Given the description of an element on the screen output the (x, y) to click on. 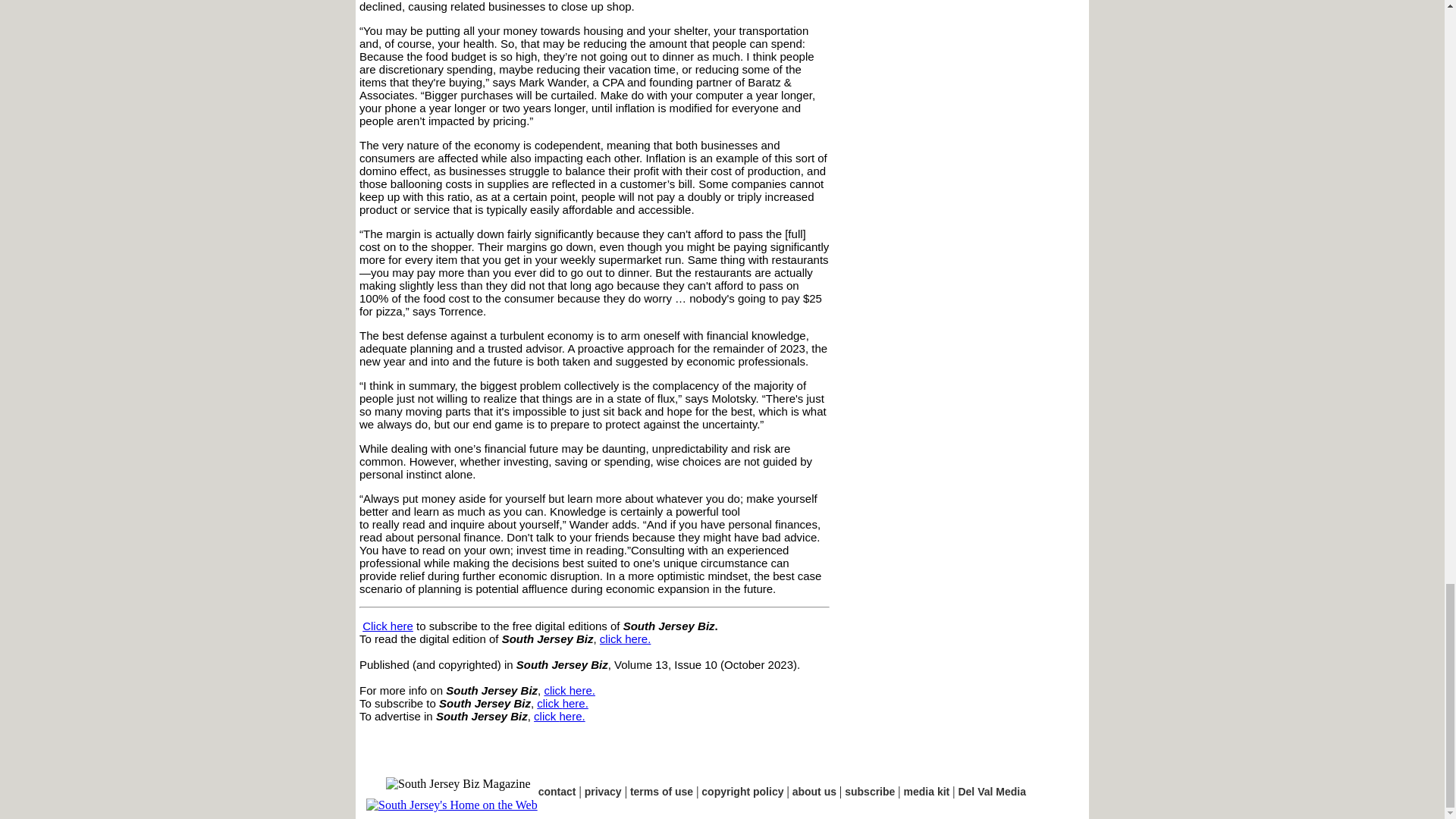
media kit (927, 791)
subscribe (869, 791)
Del Val Media (991, 791)
click here. (624, 638)
here. (575, 703)
about us (813, 791)
here. (582, 689)
here. (572, 716)
privacy (603, 791)
click  (546, 716)
